Given the description of an element on the screen output the (x, y) to click on. 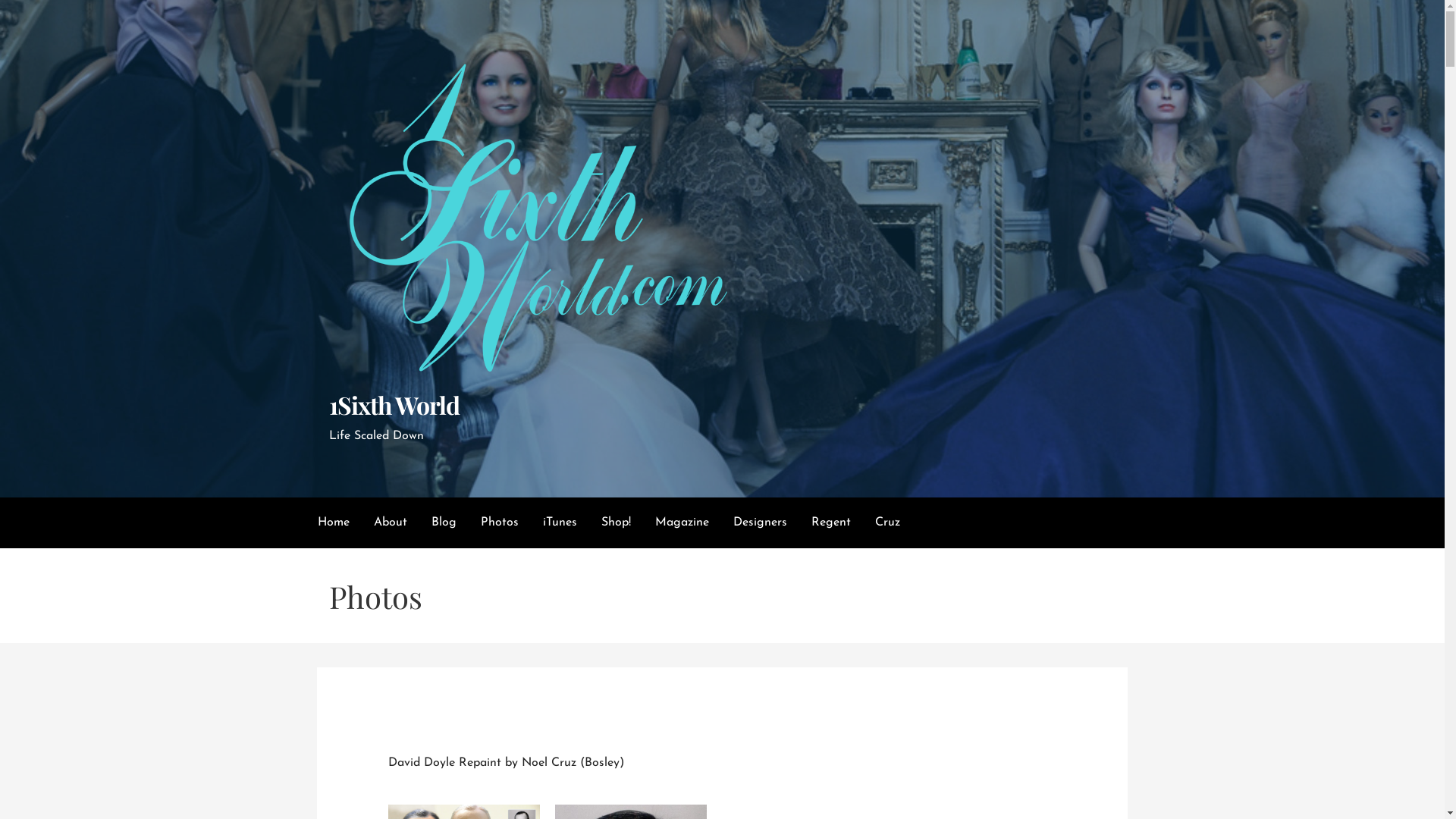
Blog Element type: text (442, 522)
1Sixth World Element type: text (394, 404)
About Element type: text (389, 522)
Designers Element type: text (759, 522)
Magazine Element type: text (682, 522)
Shop! Element type: text (615, 522)
Home Element type: text (332, 522)
Regent Element type: text (830, 522)
Photos Element type: text (499, 522)
Cruz Element type: text (887, 522)
iTunes Element type: text (559, 522)
